Given the description of an element on the screen output the (x, y) to click on. 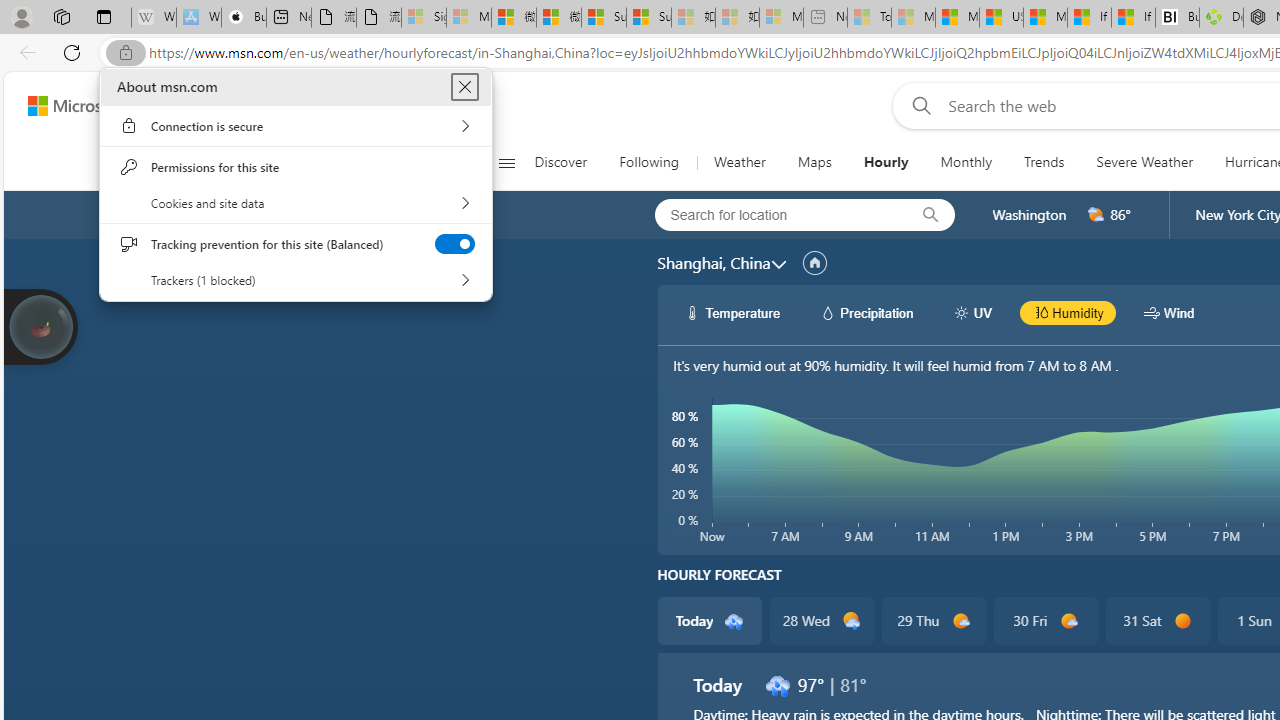
Search for location (775, 214)
Tracking prevention for this site (Balanced) (454, 244)
hourlyChart/precipitationWhite Precipitation (866, 312)
hourlyChart/windWhite (1152, 312)
hourlyChart/temperatureWhite (692, 312)
d2000 (1096, 215)
Maps (814, 162)
